Given the description of an element on the screen output the (x, y) to click on. 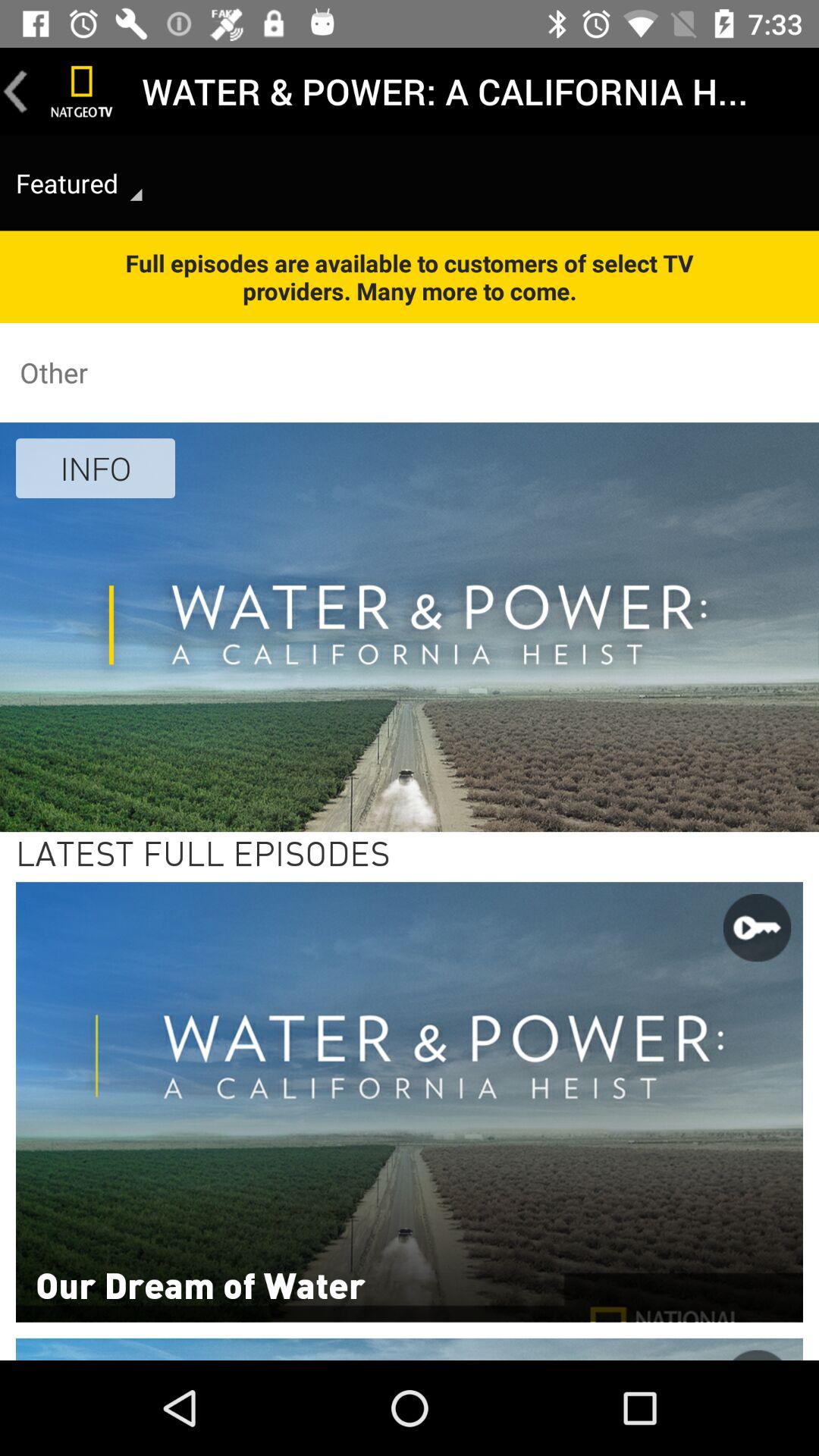
turn on the item at the bottom left corner (200, 1284)
